Given the description of an element on the screen output the (x, y) to click on. 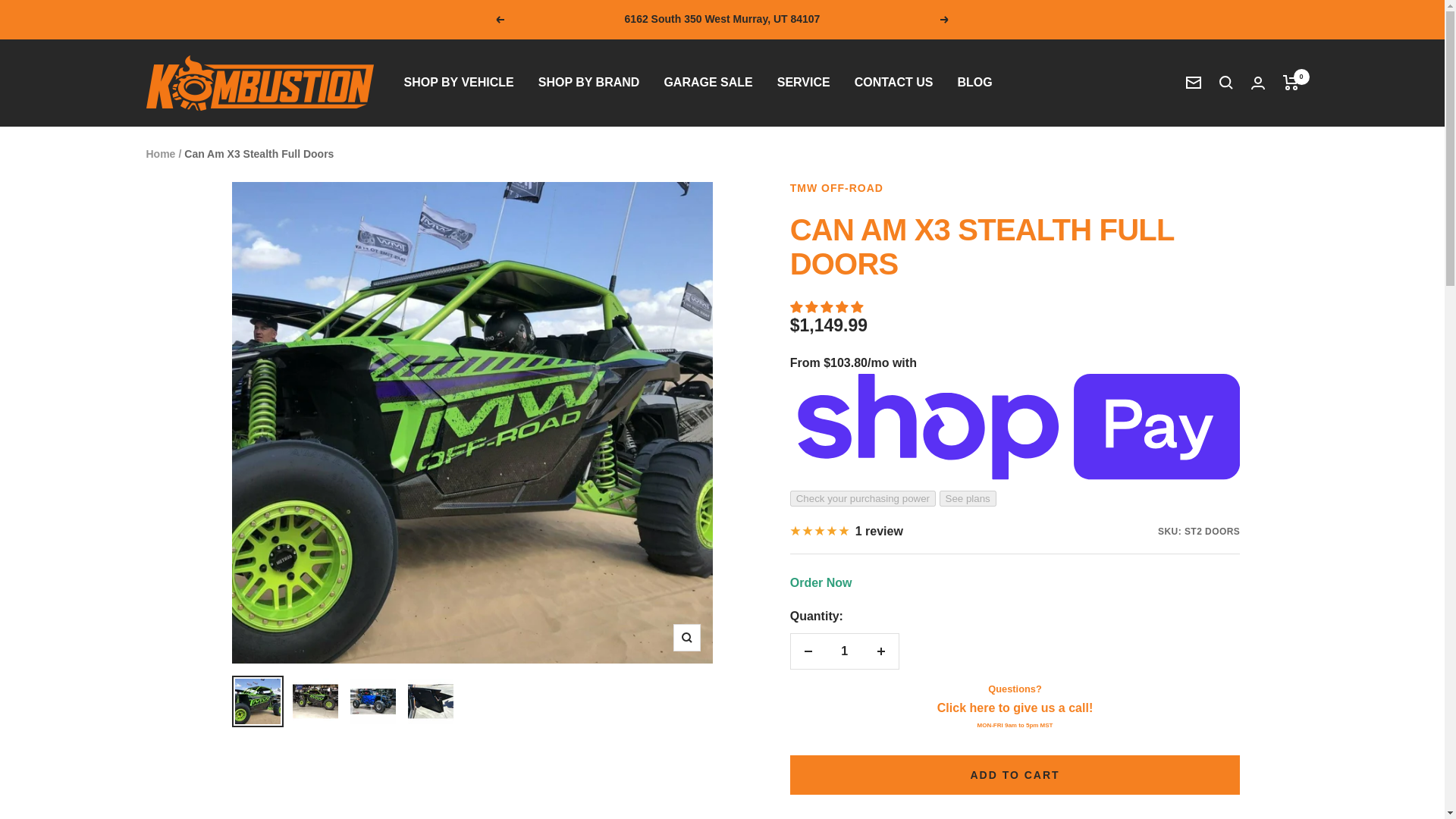
Next (944, 19)
BLOG (973, 82)
SHOP BY VEHICLE (458, 82)
Zoom (686, 637)
TMW OFF-ROAD (836, 187)
Newsletter (1193, 82)
SHOP BY BRAND (589, 82)
1 review (846, 531)
0 (1290, 82)
CONTACT US (893, 82)
